Given the description of an element on the screen output the (x, y) to click on. 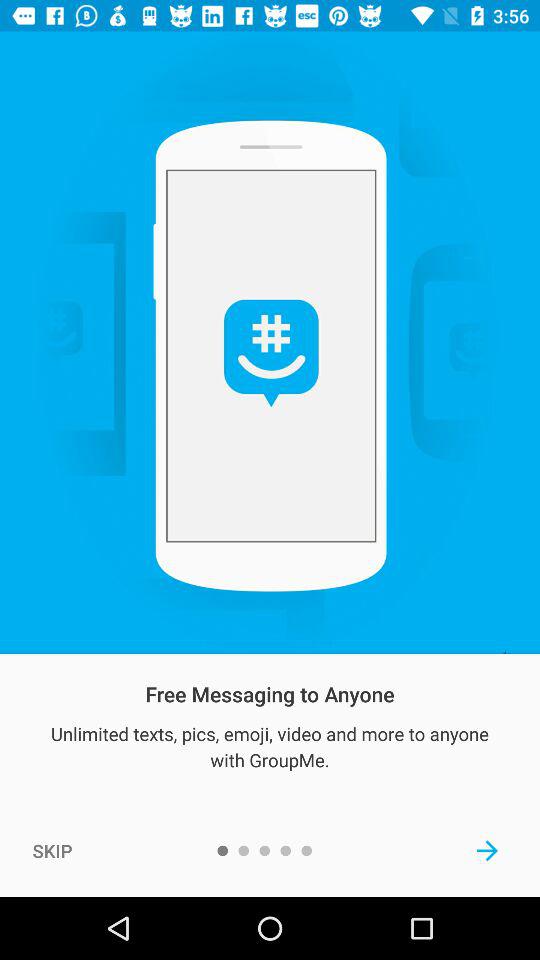
next (487, 850)
